Given the description of an element on the screen output the (x, y) to click on. 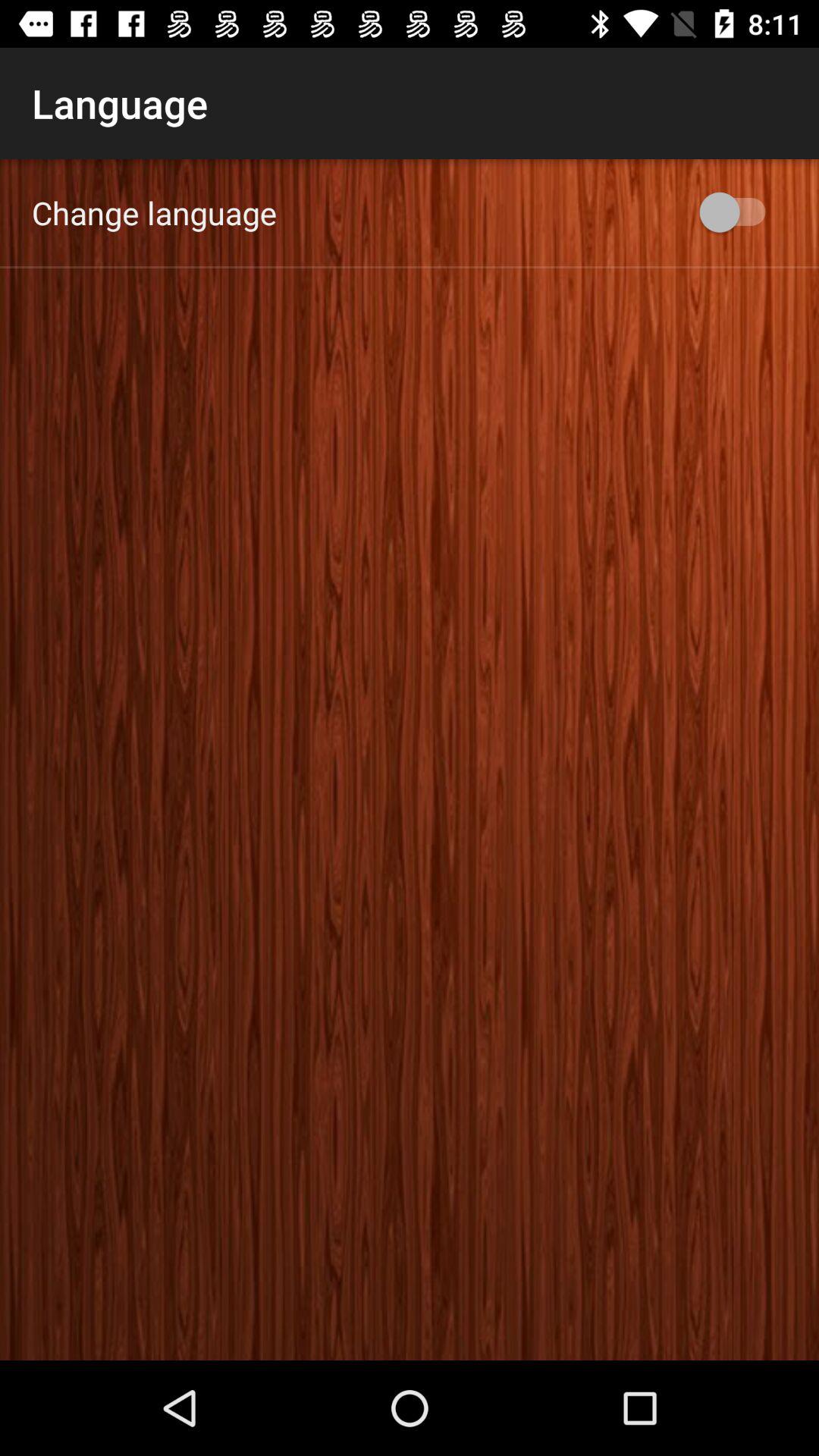
select item at the top right corner (739, 212)
